Given the description of an element on the screen output the (x, y) to click on. 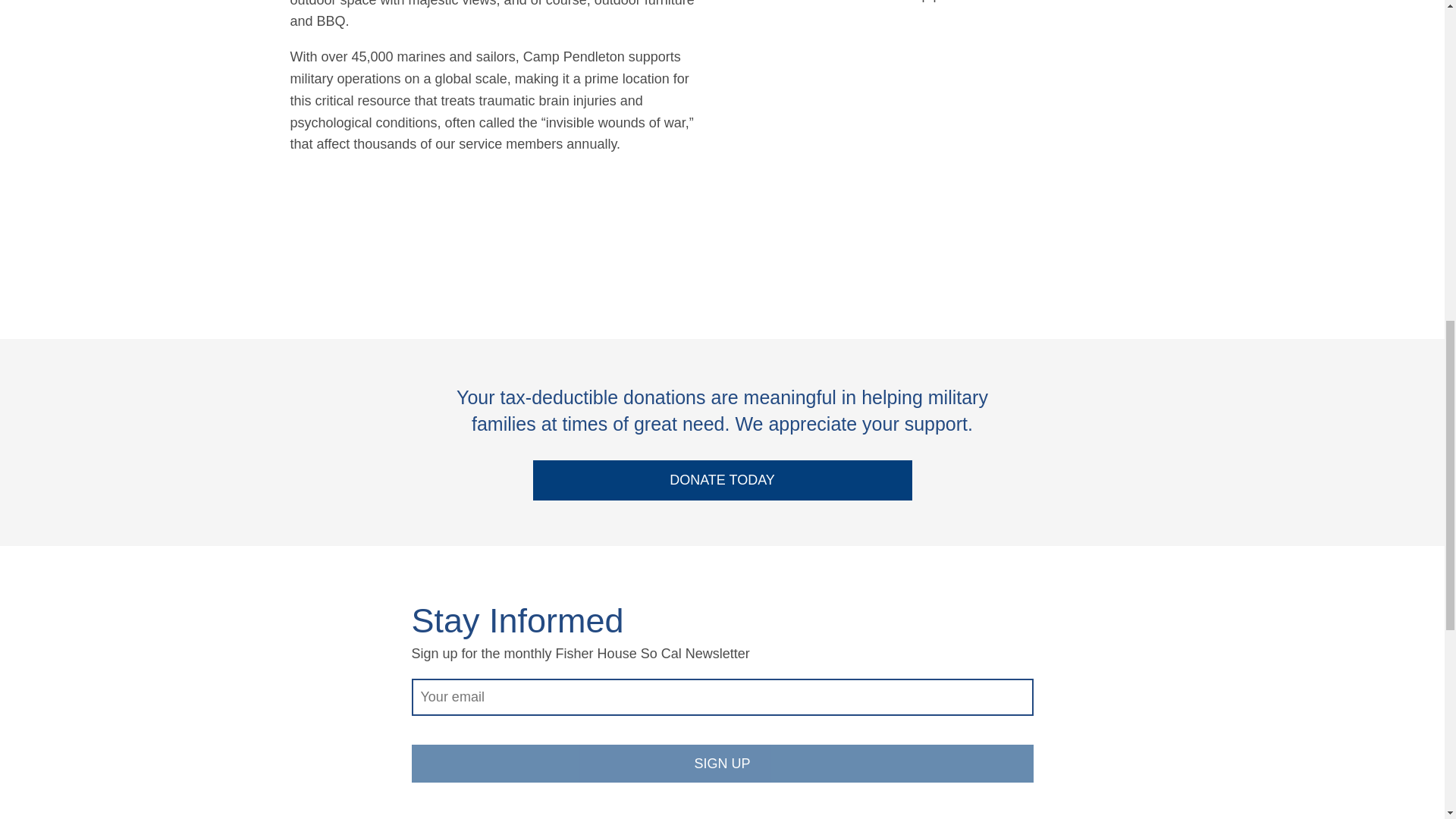
Naval Hospital Camp Pendleton 2 (781, 228)
Naval Hospital Camp Pendleton 4 (991, 228)
Naval Hospital Camp Pendleton 5 (1094, 228)
Naval Hospital Camp Pendleton 3 (886, 228)
SIGN UP (721, 763)
SIGN UP (721, 763)
DONATE TODAY (721, 480)
Naval Hospital Camp Pendleton 1 (938, 85)
